Given the description of an element on the screen output the (x, y) to click on. 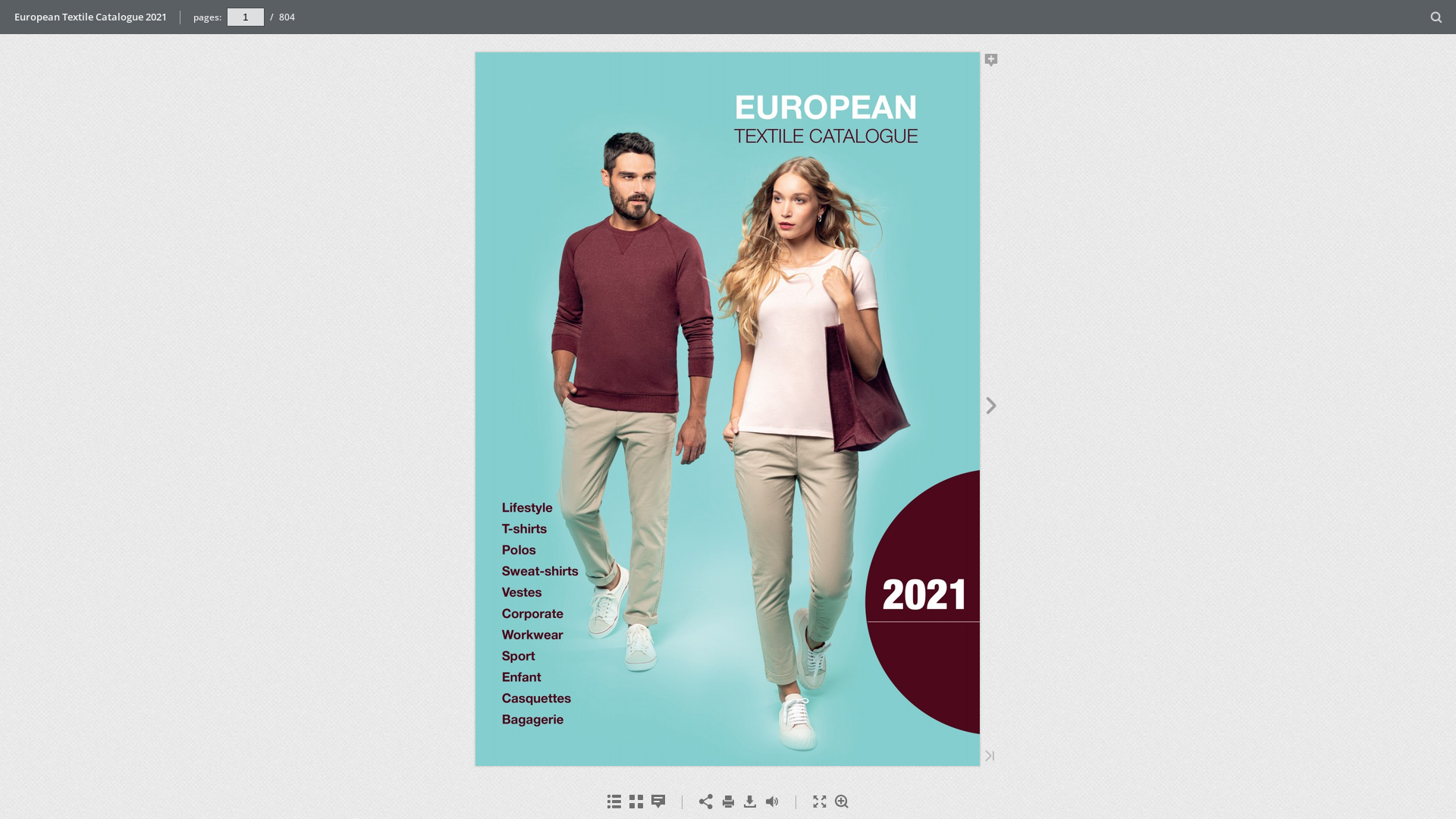
Zoom In Element type: hover (842, 801)
Notes Element type: hover (658, 801)
Fullscreen Element type: hover (819, 801)
Print Element type: hover (728, 801)
Download Element type: hover (749, 801)
Add Note Element type: hover (991, 62)
Thumbnails Element type: hover (635, 801)
Share Element type: hover (705, 801)
Next Page Element type: hover (991, 407)
Search Element type: hover (1436, 17)
Table of Contents Element type: hover (614, 801)
Last Page Element type: hover (989, 756)
Toggle Sound Element type: hover (772, 801)
